Given the description of an element on the screen output the (x, y) to click on. 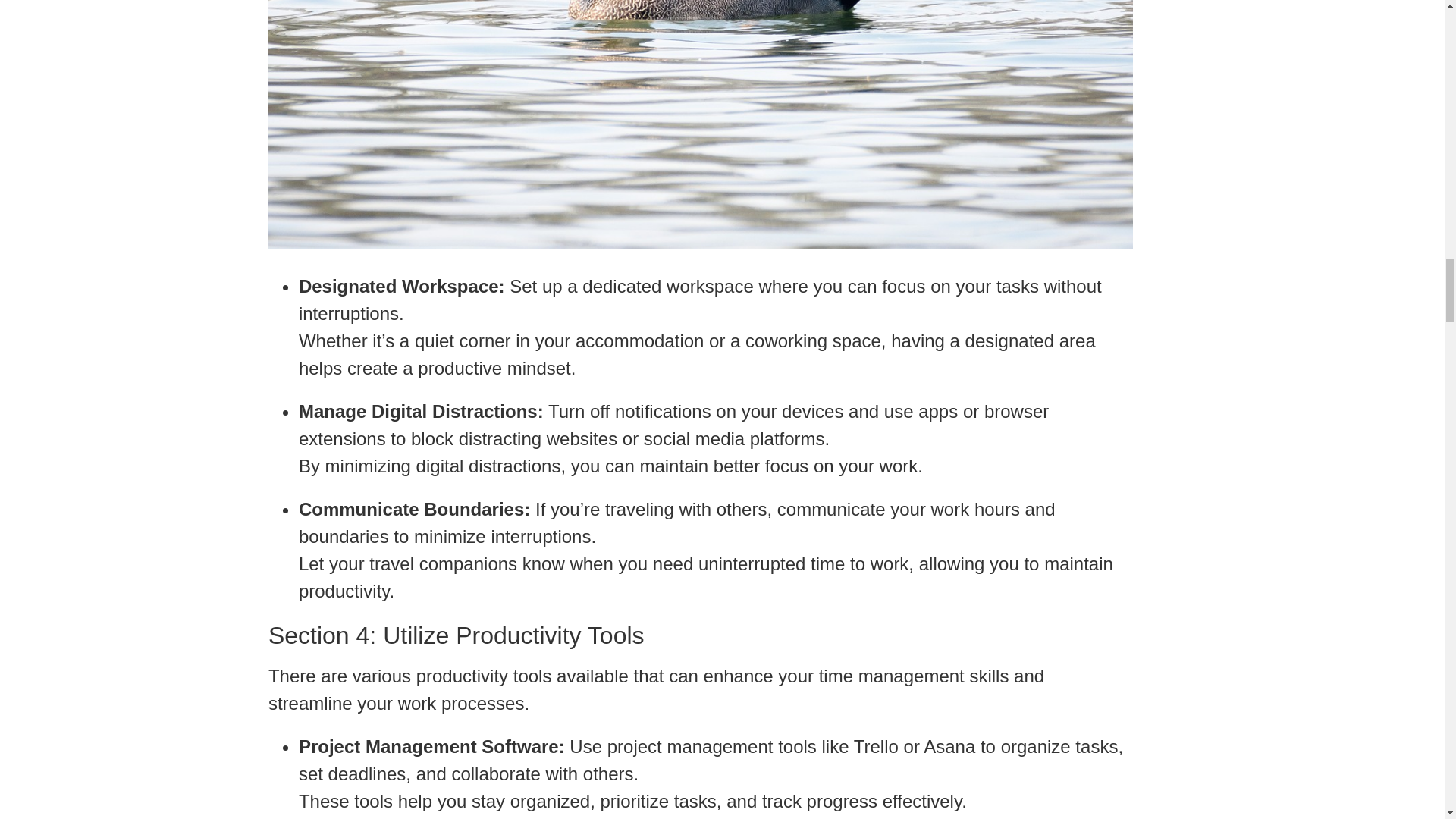
Section 4: Utilize Productivity Tools (699, 635)
